Given the description of an element on the screen output the (x, y) to click on. 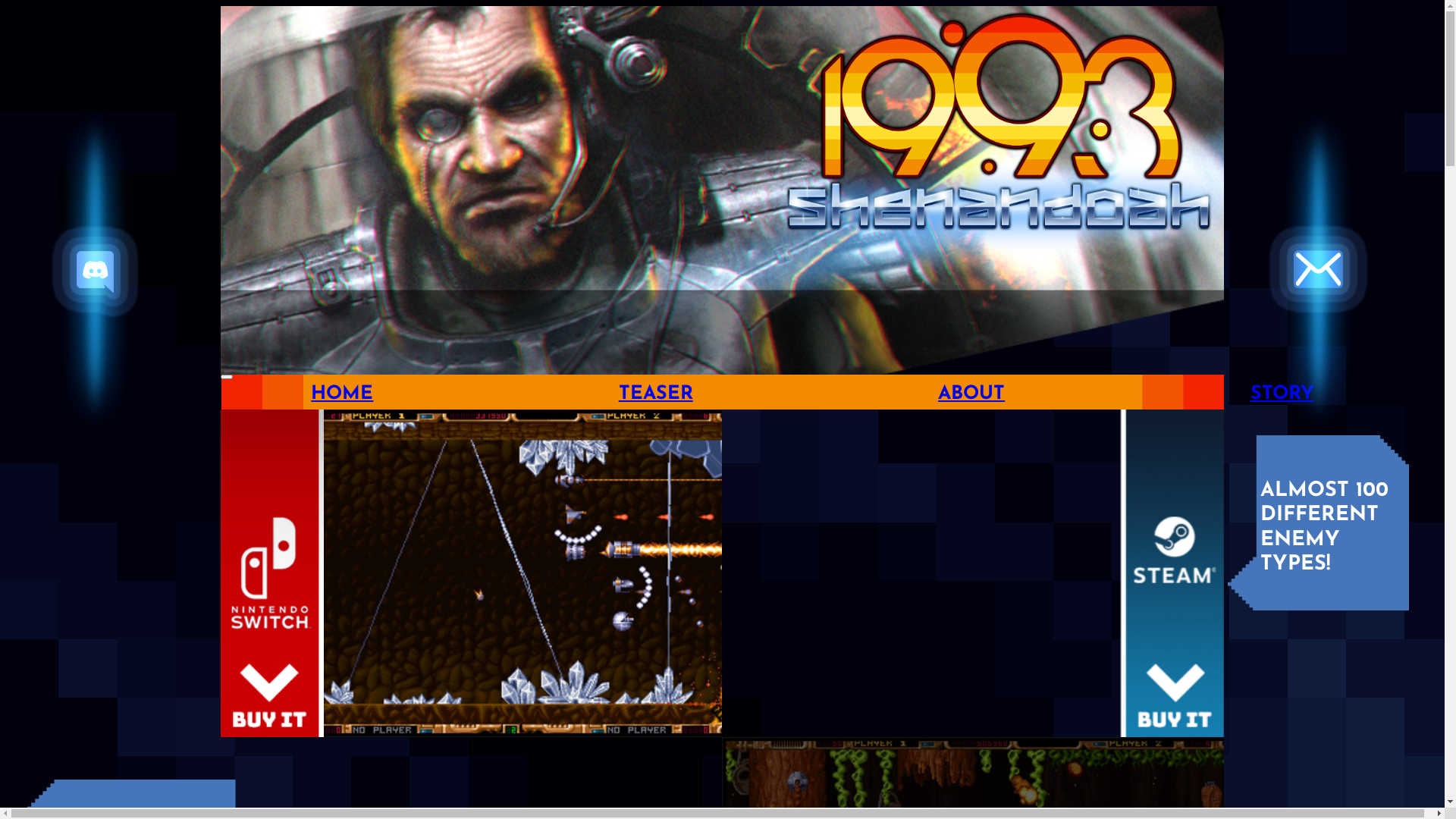
HOME
(current) Element type: text (341, 393)
TEASER Element type: text (655, 393)
STORY Element type: text (1282, 393)
ABOUT Element type: text (971, 393)
